Given the description of an element on the screen output the (x, y) to click on. 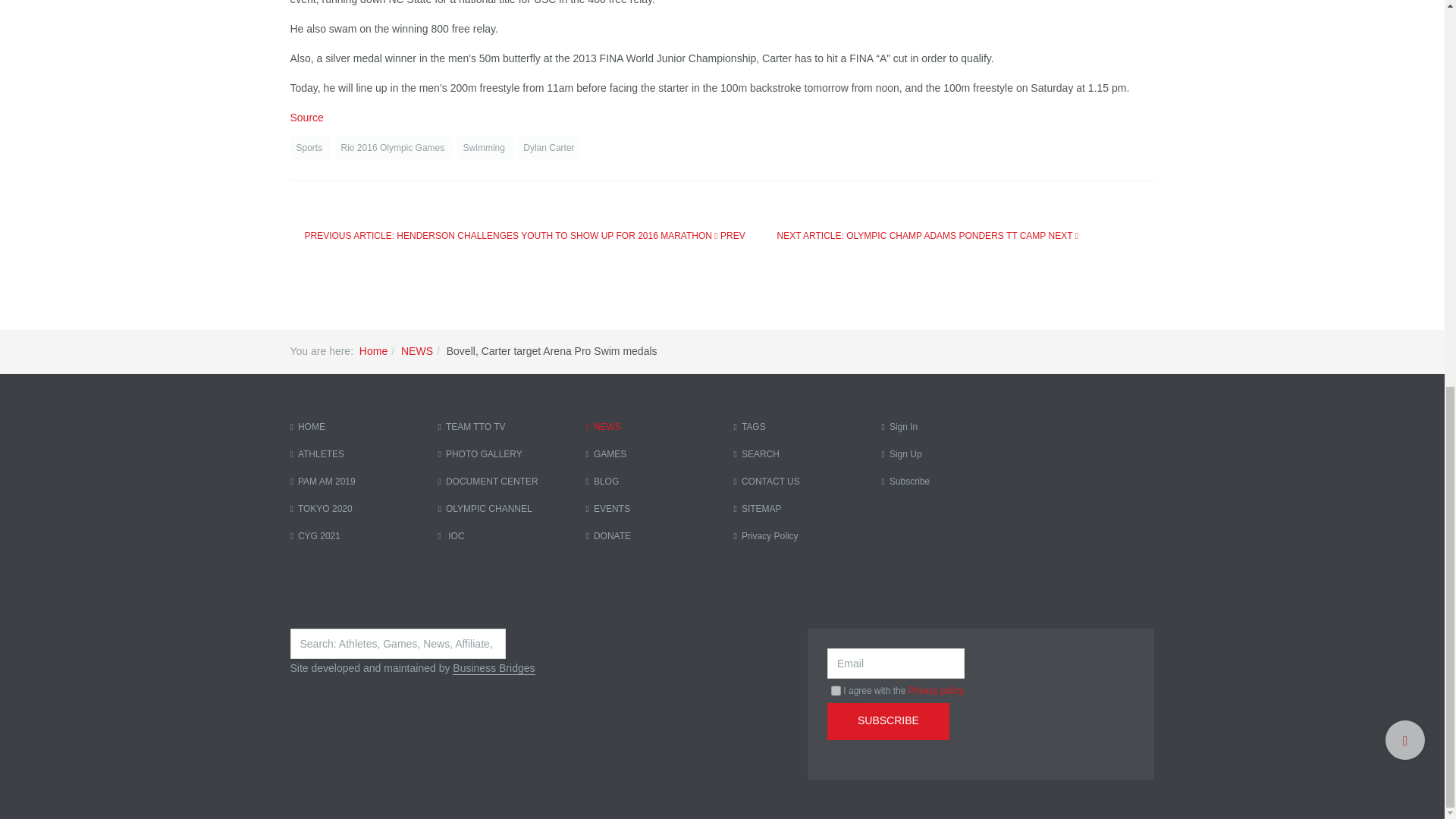
Subscribe (888, 721)
Terms and conditions (836, 690)
Business Bridges (493, 667)
on (836, 690)
Back to Top (1405, 14)
